Given the description of an element on the screen output the (x, y) to click on. 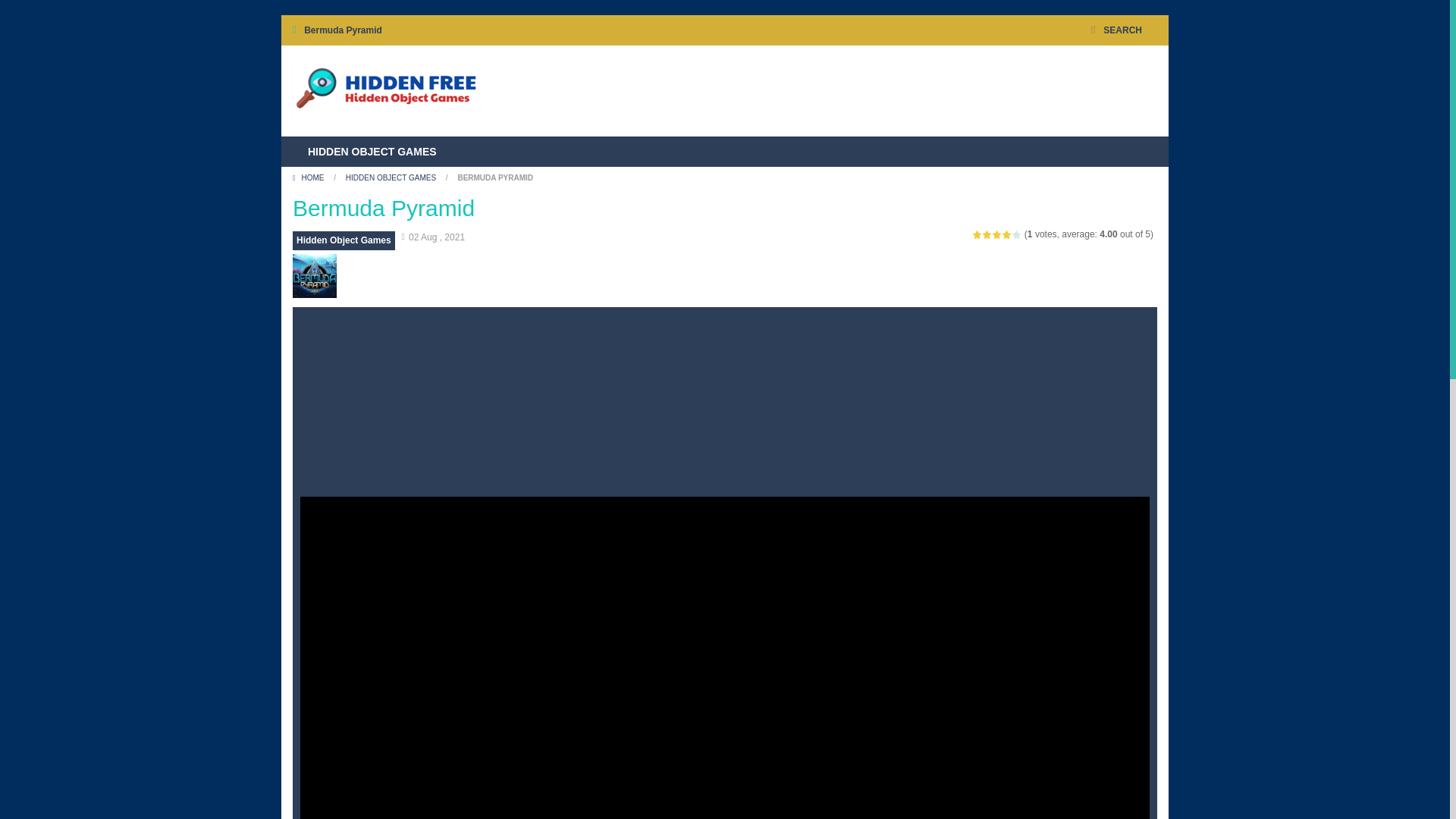
HOME (309, 177)
Hidden Object Games (385, 90)
Home (309, 177)
5 Stars (1016, 234)
Advertisement (881, 90)
HIDDEN OBJECT GAMES (371, 151)
SEARCH (1115, 30)
HIDDEN OBJECT GAMES (390, 177)
4 Stars (1007, 234)
3 Stars (997, 234)
Advertisement (724, 348)
2 Stars (987, 234)
Hidden Object Games (385, 90)
Hidden Object Games (343, 240)
1 Star (977, 234)
